Given the description of an element on the screen output the (x, y) to click on. 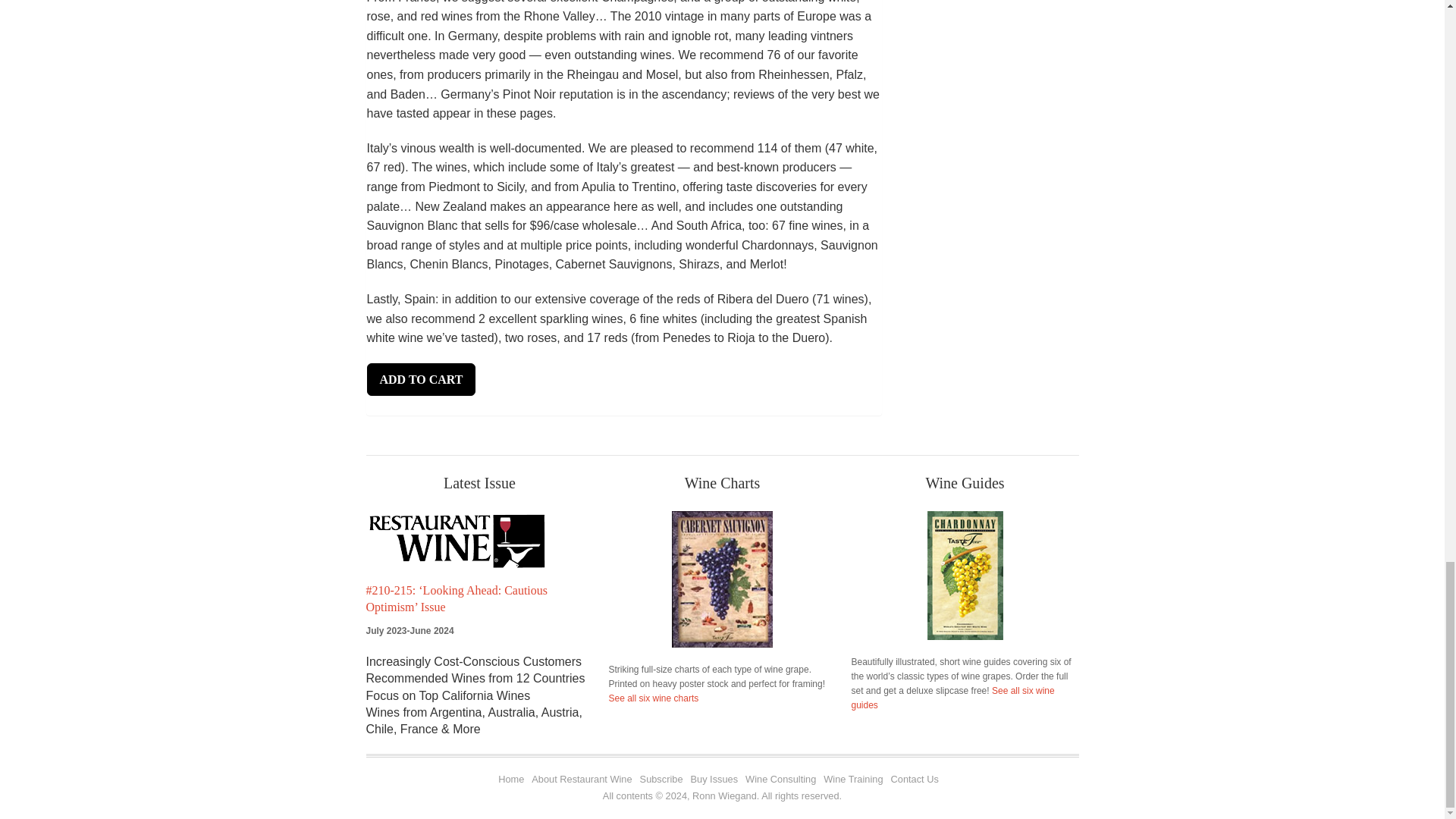
Add to Cart (421, 379)
Add to Cart (421, 379)
